Given the description of an element on the screen output the (x, y) to click on. 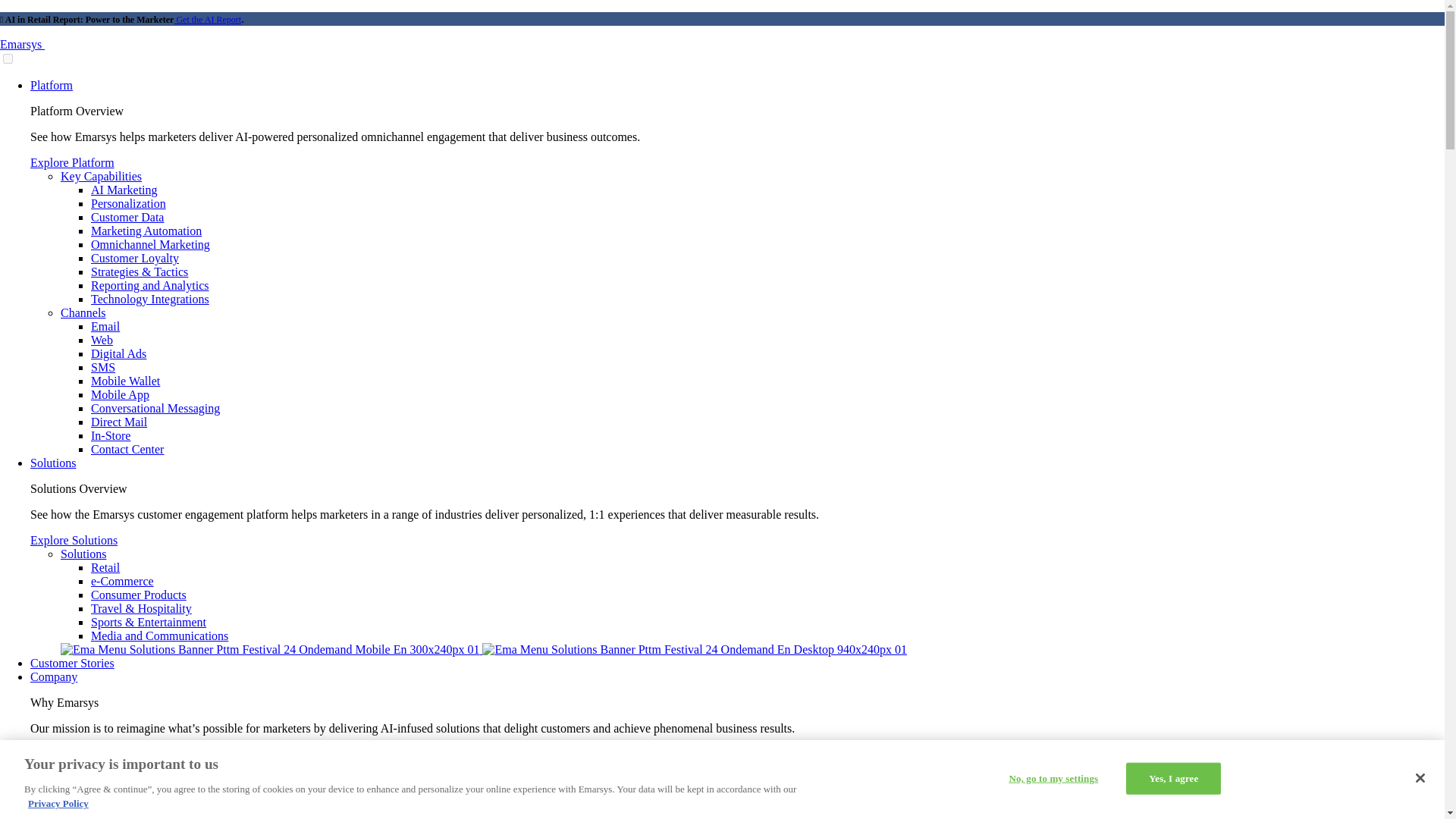
Personalization (127, 203)
Solutions (52, 462)
e-Commerce (122, 581)
Explore Platform (72, 162)
About Emarsys (127, 780)
Digital Ads (118, 353)
Customer Stories (72, 662)
Consumer Products (138, 594)
on (7, 58)
Retail (104, 567)
AI Marketing (123, 189)
Media and Communications (159, 635)
Conversational Messaging (154, 408)
Platform (51, 84)
Technology Integrations (149, 298)
